Given the description of an element on the screen output the (x, y) to click on. 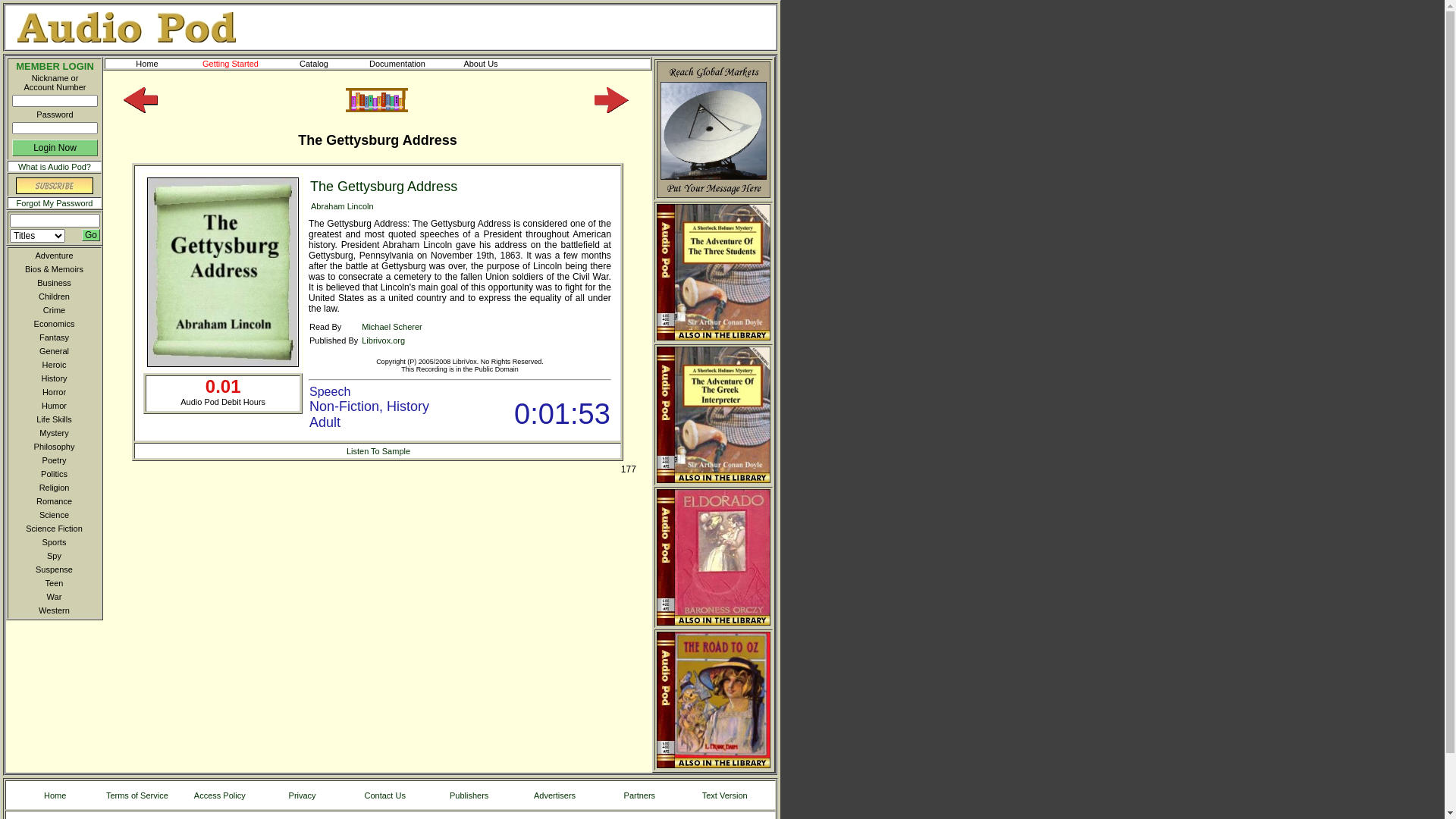
Western Element type: text (52, 610)
Bios & Memoirs Element type: text (52, 269)
War Element type: text (52, 596)
Sports Element type: text (52, 542)
Nickname or Account Number input field Element type: hover (54, 100)
Romance Element type: text (52, 501)
Audio Book The Adventure of the Three Students:A... Element type: hover (713, 271)
book shelf controls Element type: hover (377, 99)
Advertisment Reach Global Markets Element type: hover (713, 129)
Text Version Element type: text (724, 794)
Politics Element type: text (52, 473)
Current Book Shelf Element type: hover (376, 108)
Previous Book On Shelf Element type: hover (140, 109)
Catalog
     Element type: text (313, 63)
Login Now Element type: text (54, 147)
Life Skills Element type: text (52, 419)
Science Element type: text (52, 514)
Next Book On Shelf Element type: hover (611, 99)
Go Element type: text (90, 235)
Heroic Element type: text (52, 364)
Partners Element type: text (638, 794)
Forgot My Password Element type: text (54, 202)
Poetry Element type: text (52, 460)
Science Fiction Element type: text (52, 528)
Religion Element type: text (52, 487)
Business Element type: text (52, 282)
Password input field Element type: hover (54, 128)
Subscribe to the Audio Pod service Element type: hover (54, 190)
Spy Element type: text (52, 555)
Michael Scherer Element type: text (391, 326)
Abraham Lincoln Element type: text (342, 205)
Crime Element type: text (52, 309)
Current Book Shelf Element type: hover (376, 99)
Search Element type: hover (90, 235)
Suspense Element type: text (52, 569)
Humor Element type: text (52, 405)
Listen To Sample Element type: text (378, 450)
Advertisers Element type: text (554, 794)
Publishers Element type: text (468, 794)
Philosophy Element type: text (52, 446)
Previous Book On Shelf Element type: hover (140, 99)
General Element type: text (52, 350)
What is Audio Pod? Element type: text (54, 166)
Audio Book The Road to Oz Element type: hover (713, 699)
Access Policy Element type: text (219, 794)
The Gettysburg Address Element type: text (383, 186)
Audio Book El Dorado Element type: hover (713, 557)
Log In Button Element type: hover (54, 147)
Mystery Element type: text (52, 432)
Documentation
     Element type: text (397, 63)
About Us
     Element type: text (480, 63)
Economics Element type: text (52, 323)
Home Element type: text (54, 794)
Terms of Service Element type: text (136, 794)
Next Book On Shelf Element type: hover (611, 109)
Privacy Element type: text (301, 794)
Contact Us Element type: text (384, 794)
History Element type: text (52, 378)
Fantasy Element type: text (52, 337)
Home Element type: text (146, 63)
Adventure Element type: text (52, 255)
Cover Art for The Gettysburg Address Element type: hover (222, 272)
Audio Book The Adventure of the Greek Interprete... Element type: hover (713, 414)
Enter Search String Element type: hover (54, 220)
Librivox.org Element type: text (382, 340)
Getting Started
     Element type: text (230, 63)
Teen Element type: text (52, 582)
Children Element type: text (52, 296)
Horror Element type: text (52, 391)
